Given the description of an element on the screen output the (x, y) to click on. 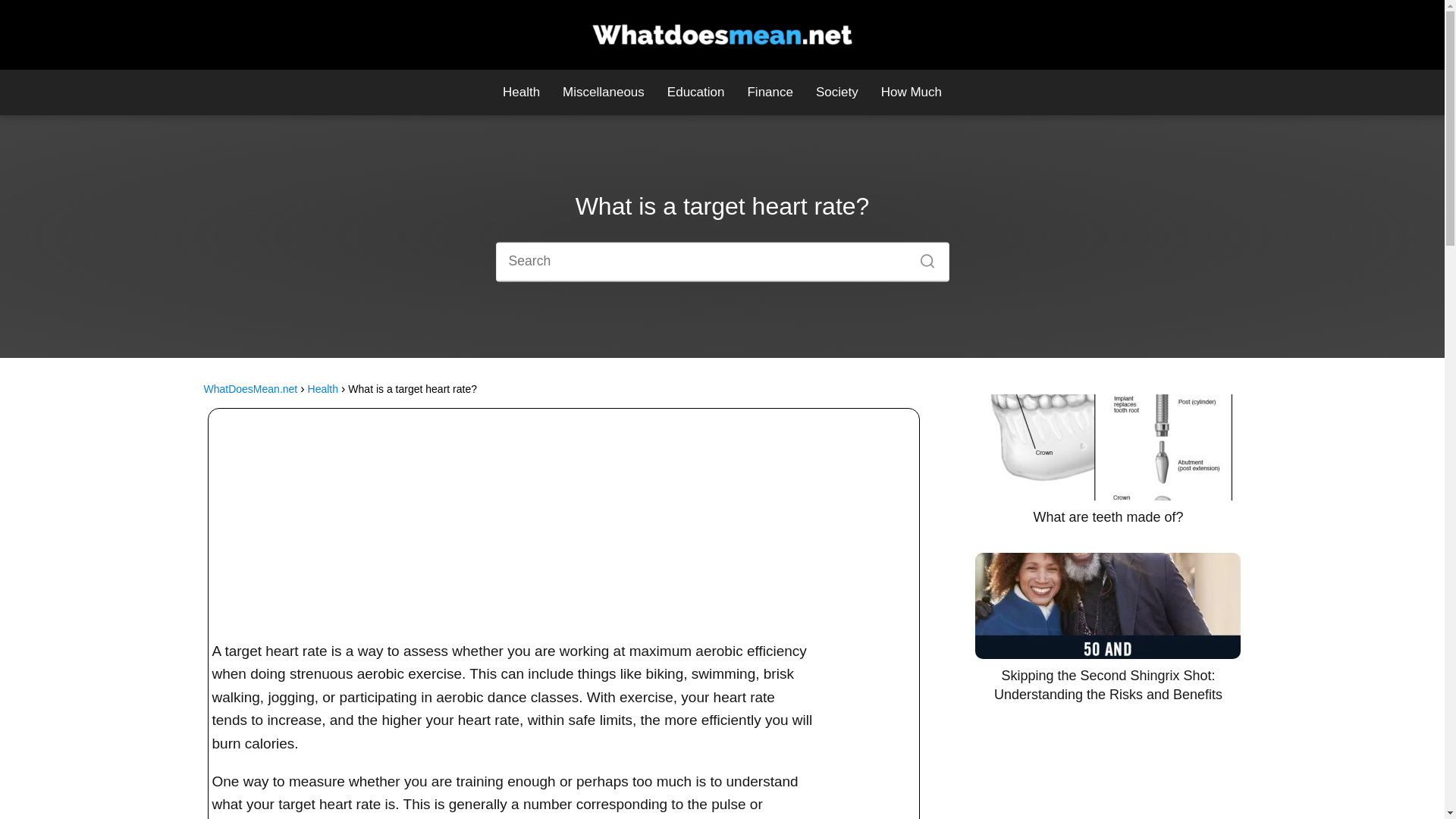
How Much (911, 92)
Miscellaneous (603, 92)
Education (695, 92)
WhatDoesMean.net (250, 388)
Society (837, 92)
Health (521, 92)
Finance (769, 92)
Advertisement (1102, 780)
Health (322, 388)
Advertisement (562, 524)
